Given the description of an element on the screen output the (x, y) to click on. 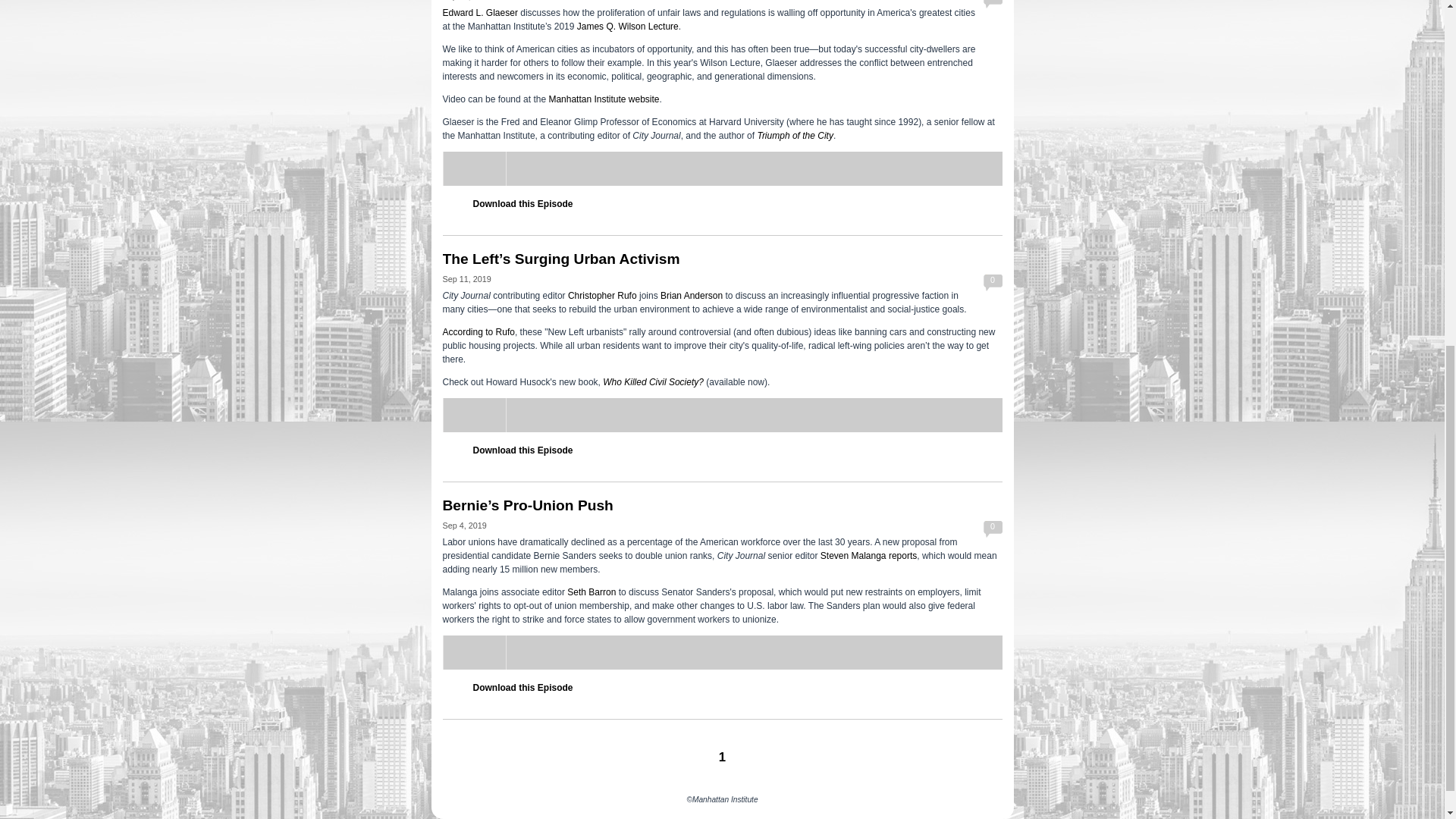
Libsyn Player (722, 415)
Libsyn Player (722, 168)
Libsyn Player (722, 652)
